Given the description of an element on the screen output the (x, y) to click on. 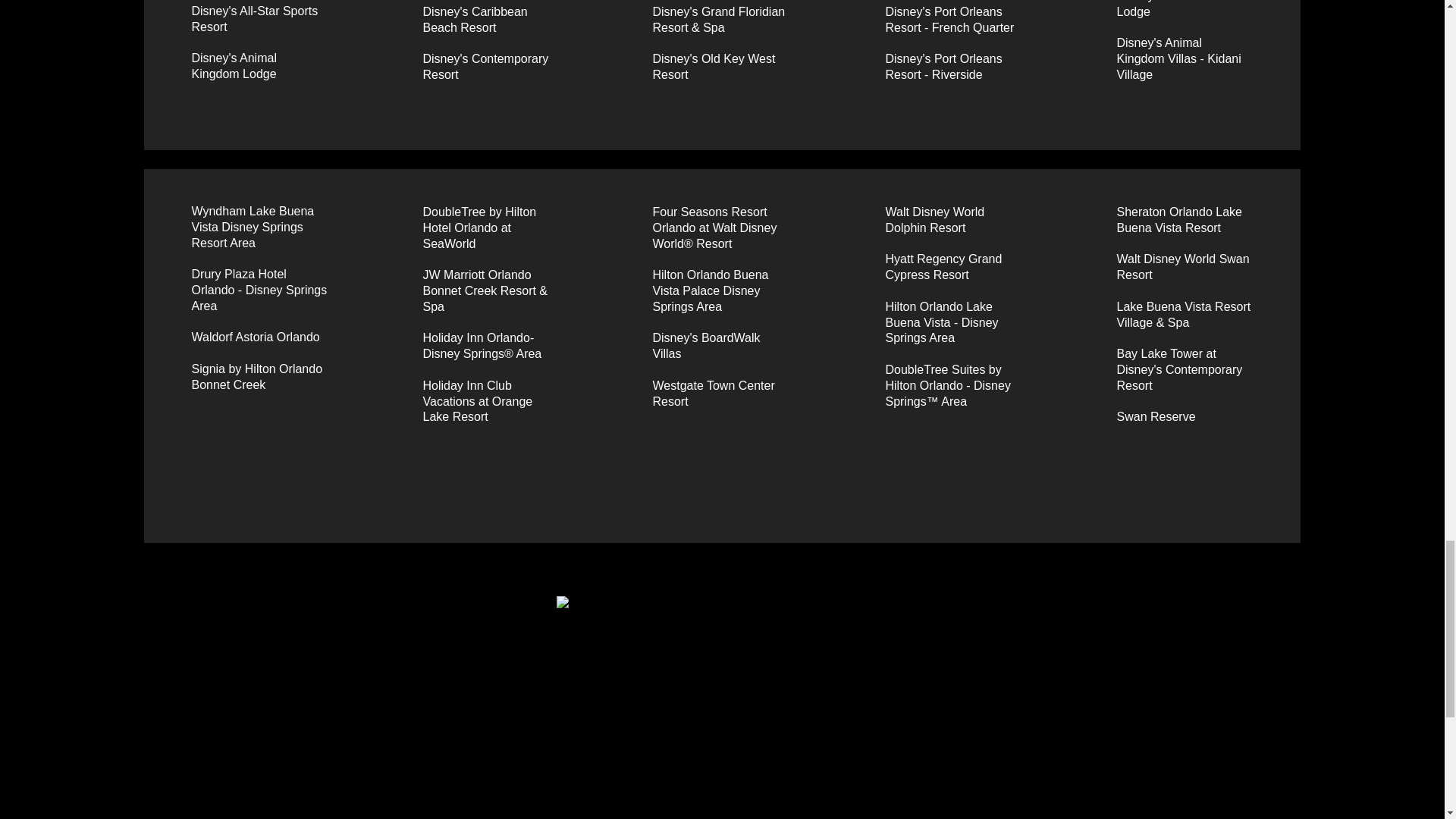
MCO to Disney World Swan Resort. (721, 707)
